Given the description of an element on the screen output the (x, y) to click on. 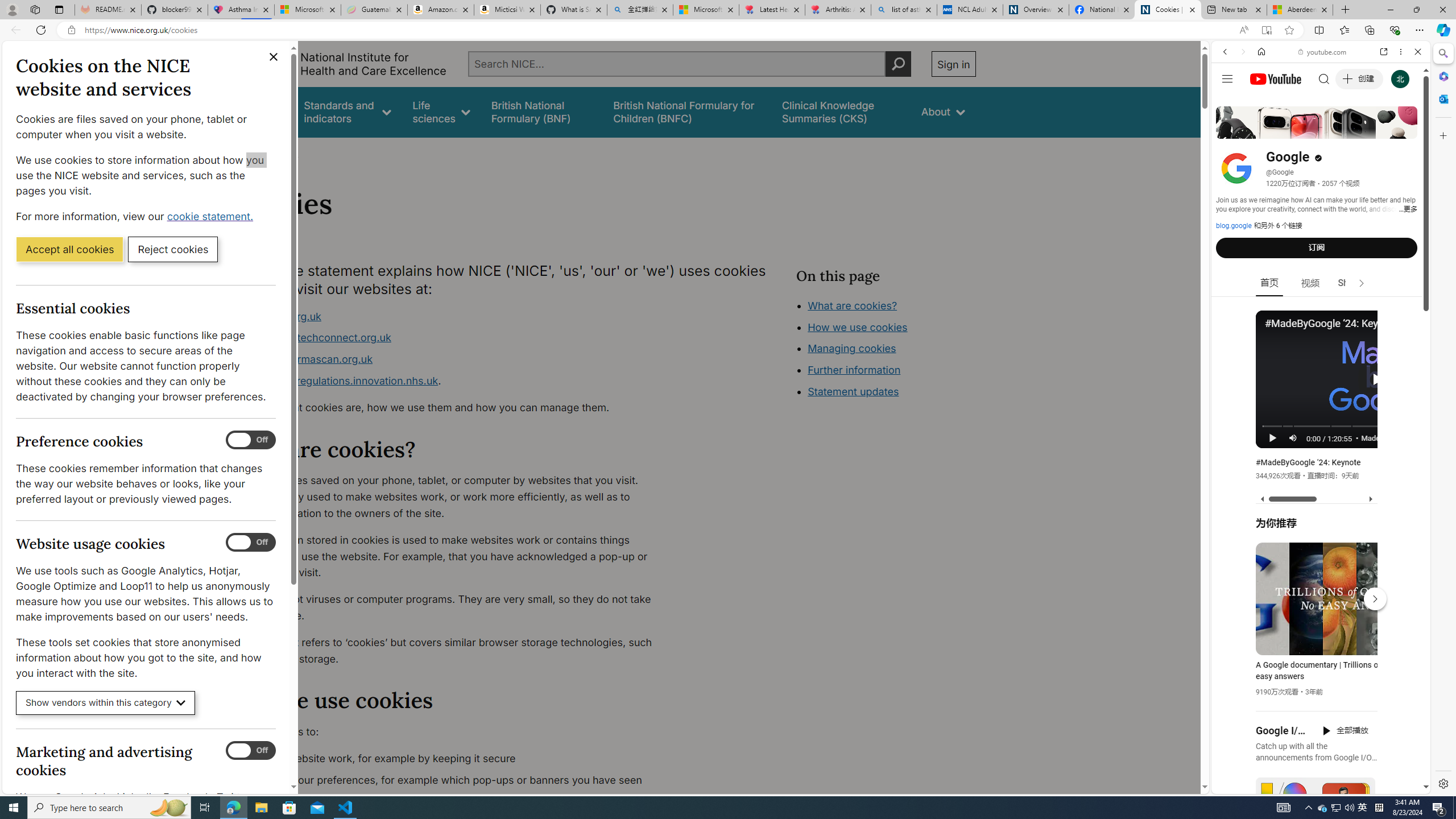
Further information (854, 369)
About (283, 152)
Show vendors within this category (105, 703)
Class: style-scope tp-yt-iron-icon (1361, 283)
Search videos from youtube.com (1299, 373)
www.ukpharmascan.org.uk (305, 359)
Google I/O 2024 (1281, 730)
